Given the description of an element on the screen output the (x, y) to click on. 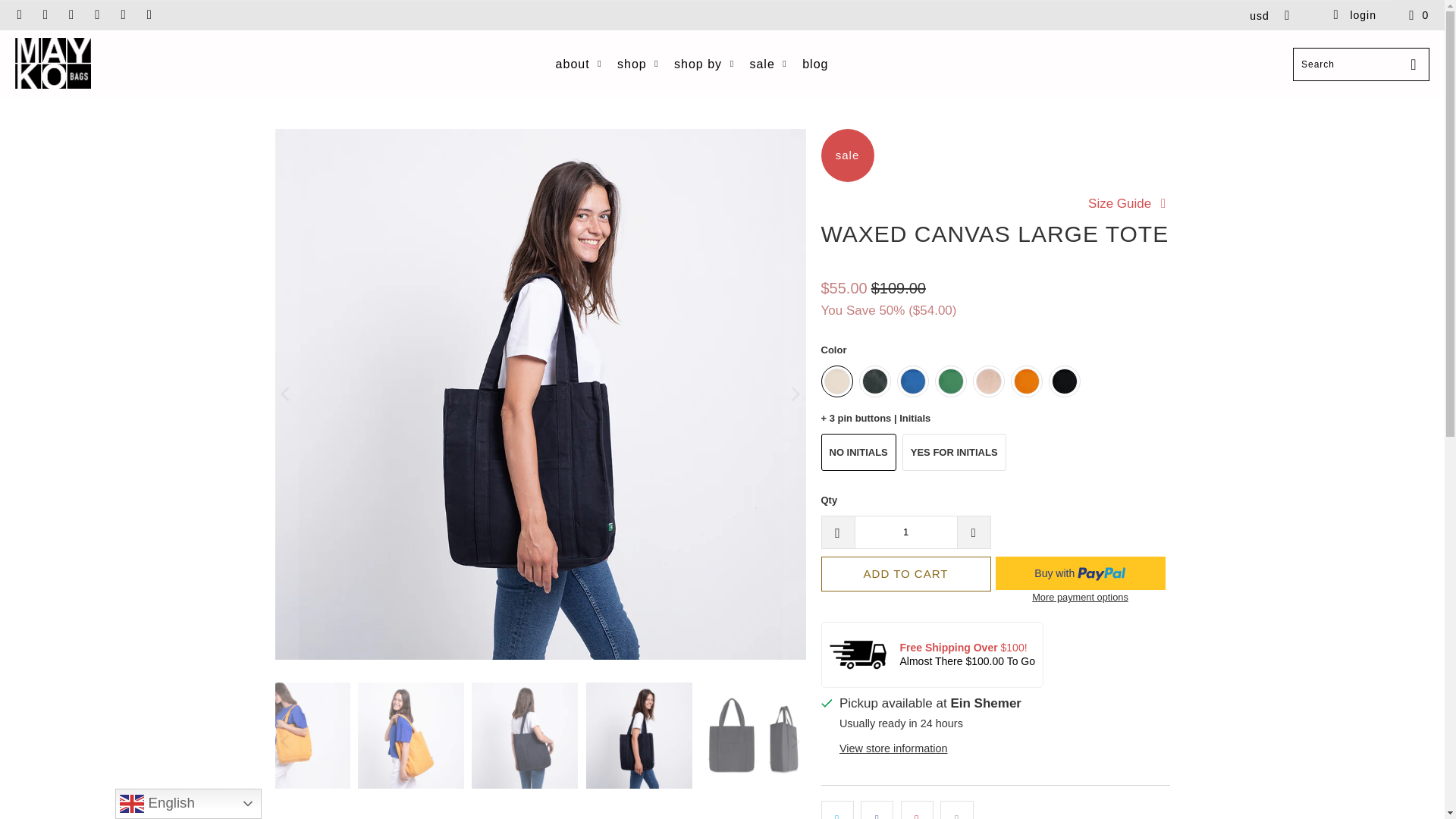
1 (904, 531)
Share this on Pinterest (917, 809)
Mayko Bags on Instagram (123, 15)
My Account  (1353, 15)
Mayko Bags on Facebook (44, 15)
Mayko Bags on YouTube (71, 15)
Share this on Facebook (876, 809)
Mayko Bags on Twitter (18, 15)
Share this on Twitter (837, 809)
Mayko Bags on Pinterest (96, 15)
Email Mayko Bags (148, 15)
Mayko Bags (52, 63)
